Given the description of an element on the screen output the (x, y) to click on. 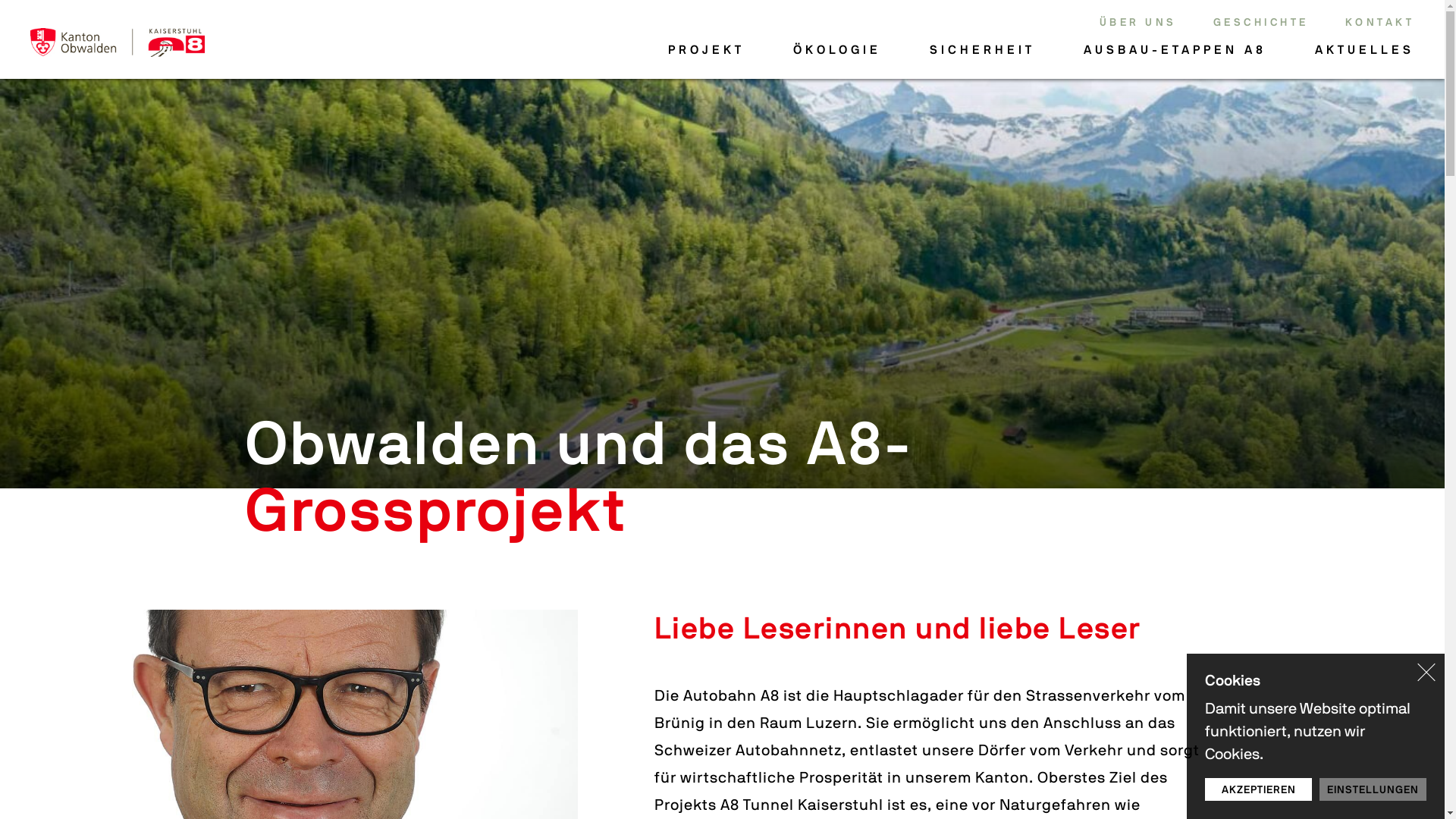
Startseite Element type: text (117, 42)
AUSBAU-ETAPPEN A8 Element type: text (1174, 49)
PROJEKT Element type: text (706, 49)
GESCHICHTE Element type: text (1260, 21)
KONTAKT Element type: text (1380, 21)
EINSTELLUNGEN Element type: text (1372, 789)
SICHERHEIT Element type: text (982, 49)
AKTUELLES Element type: text (1364, 49)
AKZEPTIEREN Element type: text (1257, 789)
